Given the description of an element on the screen output the (x, y) to click on. 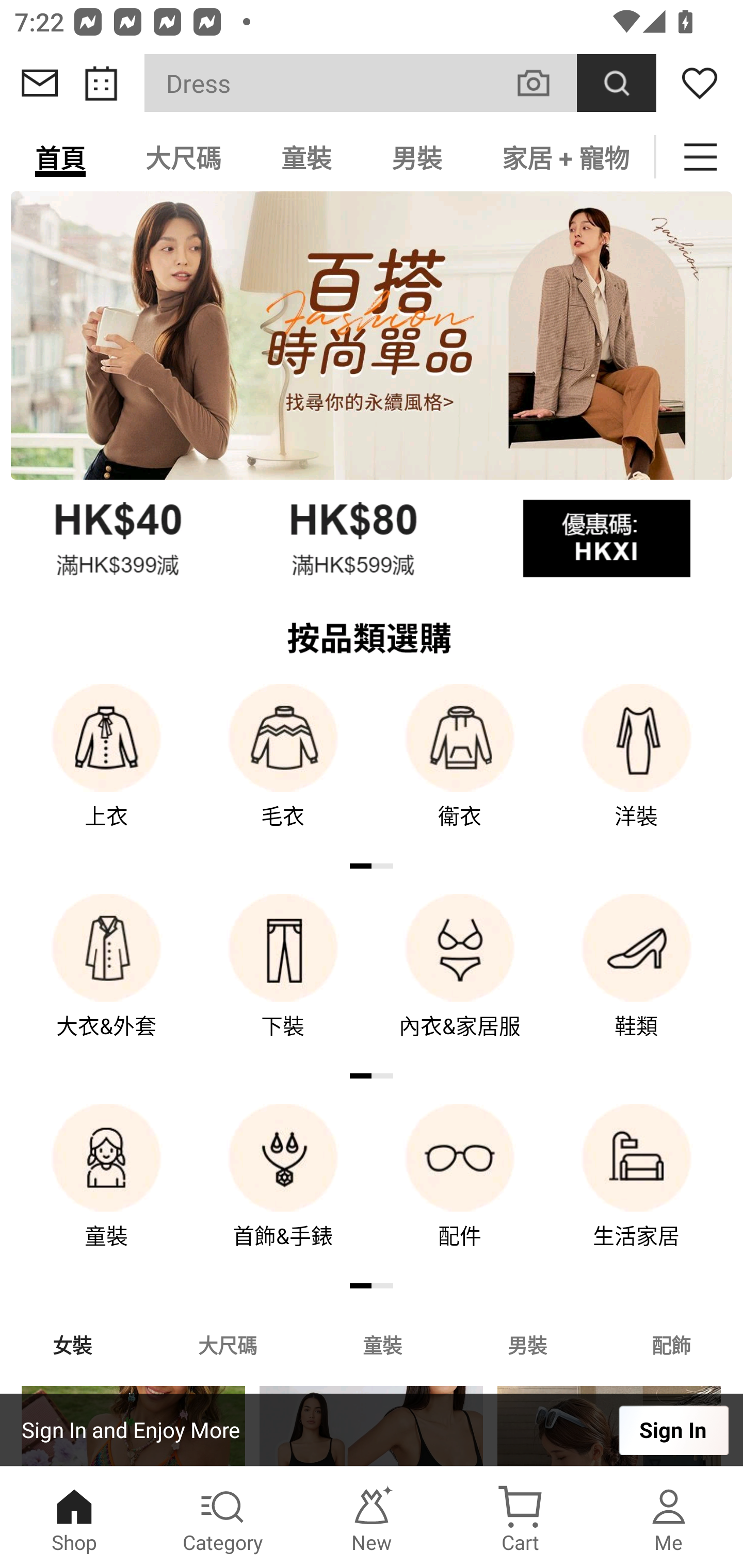
Wishlist (699, 82)
VISUAL SEARCH (543, 82)
首頁 (60, 156)
大尺碼 (183, 156)
童裝 (306, 156)
男裝 (416, 156)
家居 + 寵物 (563, 156)
上衣 (105, 769)
毛衣 (282, 769)
衛衣 (459, 769)
洋裝 (636, 769)
大衣&外套 (105, 979)
下裝 (282, 979)
內衣&家居服 (459, 979)
鞋類 (636, 979)
童裝 (105, 1189)
首飾&手錶 (282, 1189)
配件 (459, 1189)
生活家居 (636, 1189)
女裝 (72, 1344)
大尺碼 (226, 1344)
童裝 (381, 1344)
男裝 (527, 1344)
配飾 (671, 1344)
Sign In and Enjoy More Sign In (371, 1429)
Category (222, 1517)
New (371, 1517)
Cart (519, 1517)
Me (668, 1517)
